Given the description of an element on the screen output the (x, y) to click on. 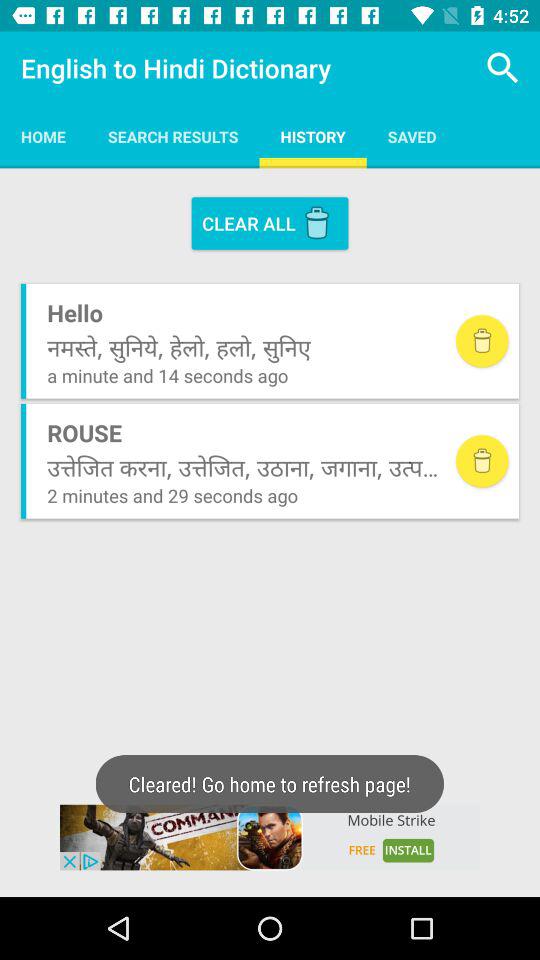
delete (482, 461)
